Given the description of an element on the screen output the (x, y) to click on. 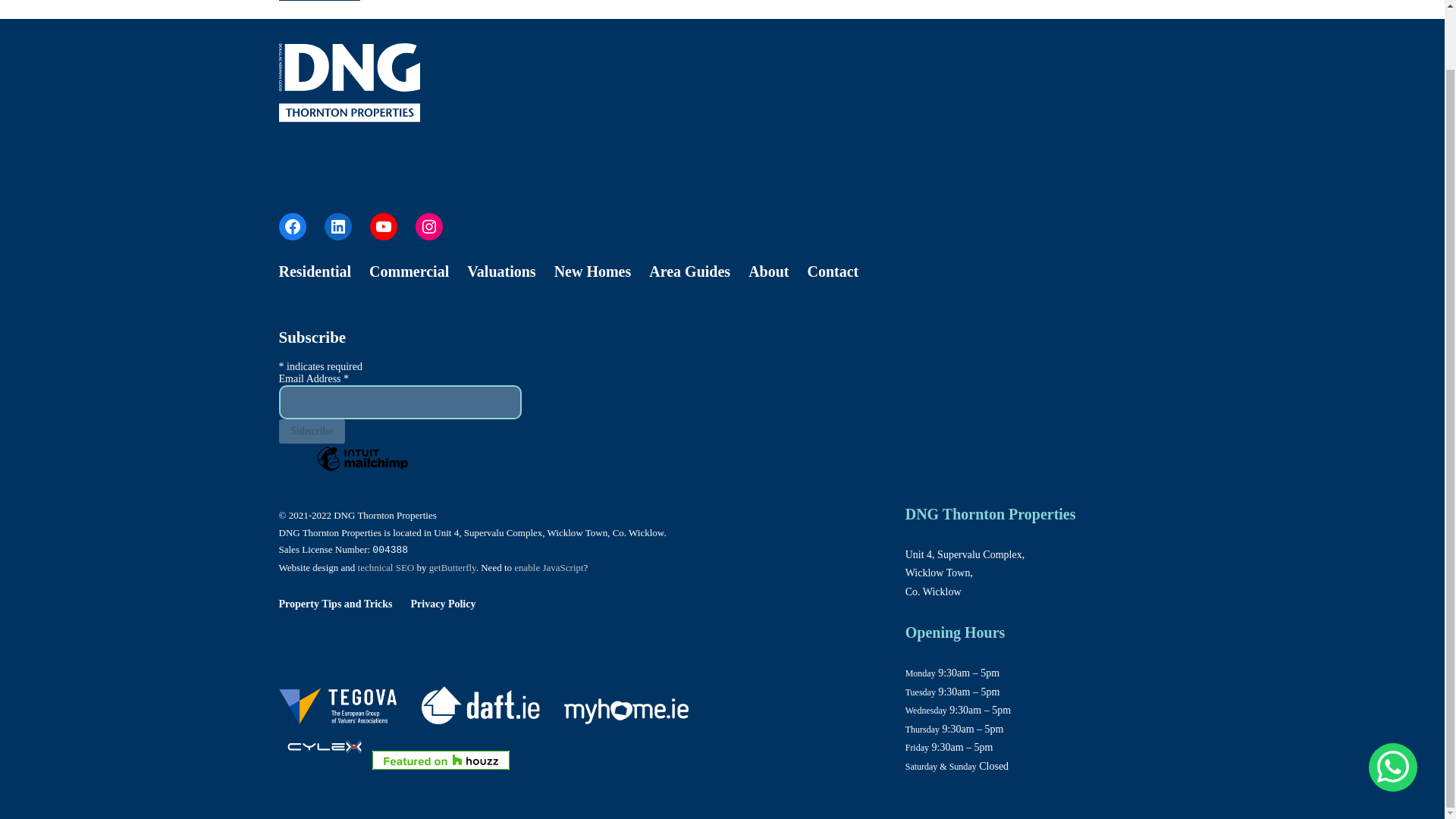
About (768, 271)
More (1142, 6)
Commercial (408, 271)
Valuations (1015, 6)
Recent Transactions (931, 6)
Properties (848, 6)
Residential (315, 271)
enable JavaScript (548, 567)
Area Guides (689, 271)
Subscribe (312, 431)
Valuations (501, 271)
New Homes (592, 271)
getButterfly (452, 567)
DNG Thornton Properties (324, 746)
Contact (832, 271)
